Given the description of an element on the screen output the (x, y) to click on. 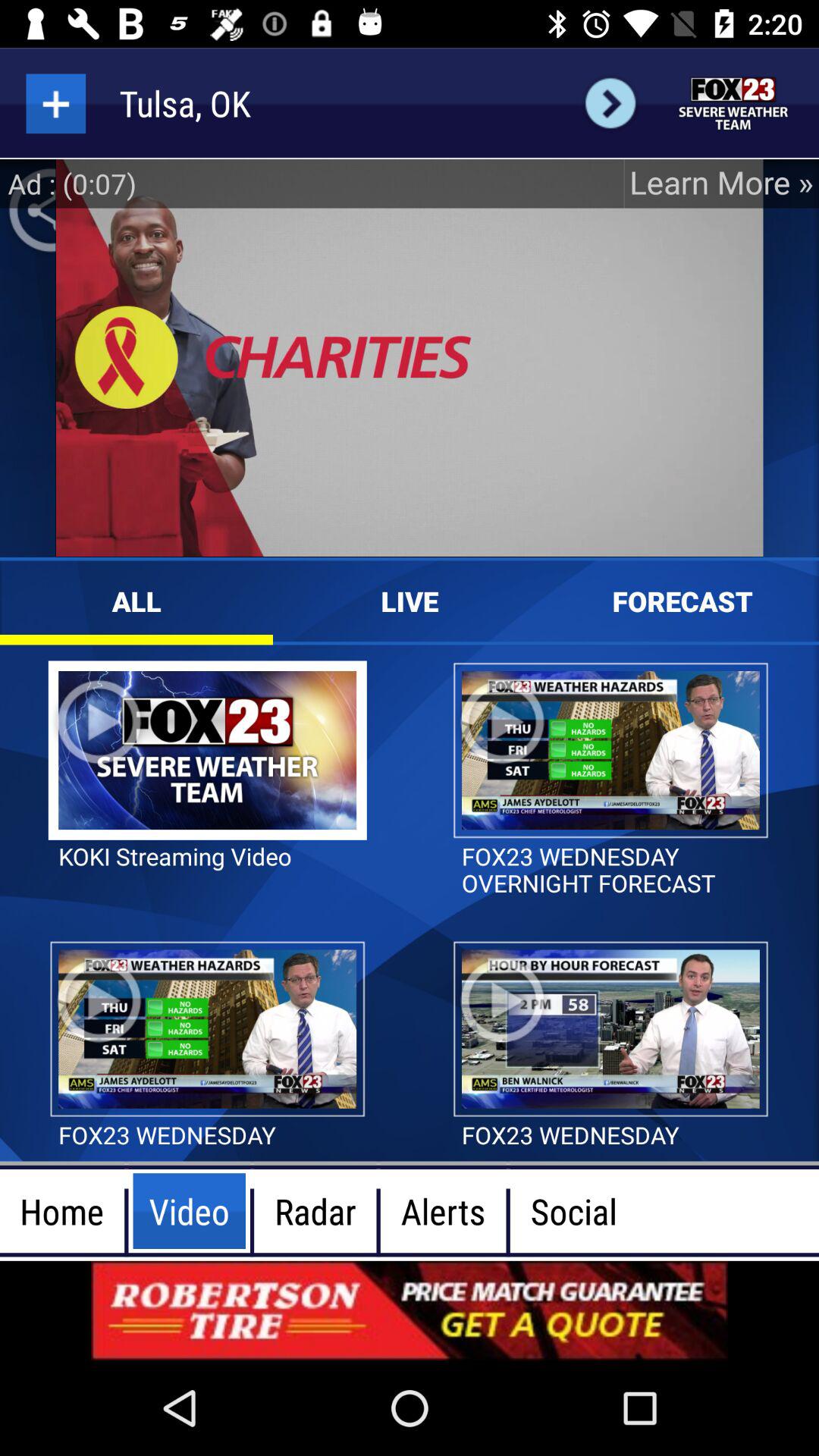
view advertisement (409, 1310)
